Given the description of an element on the screen output the (x, y) to click on. 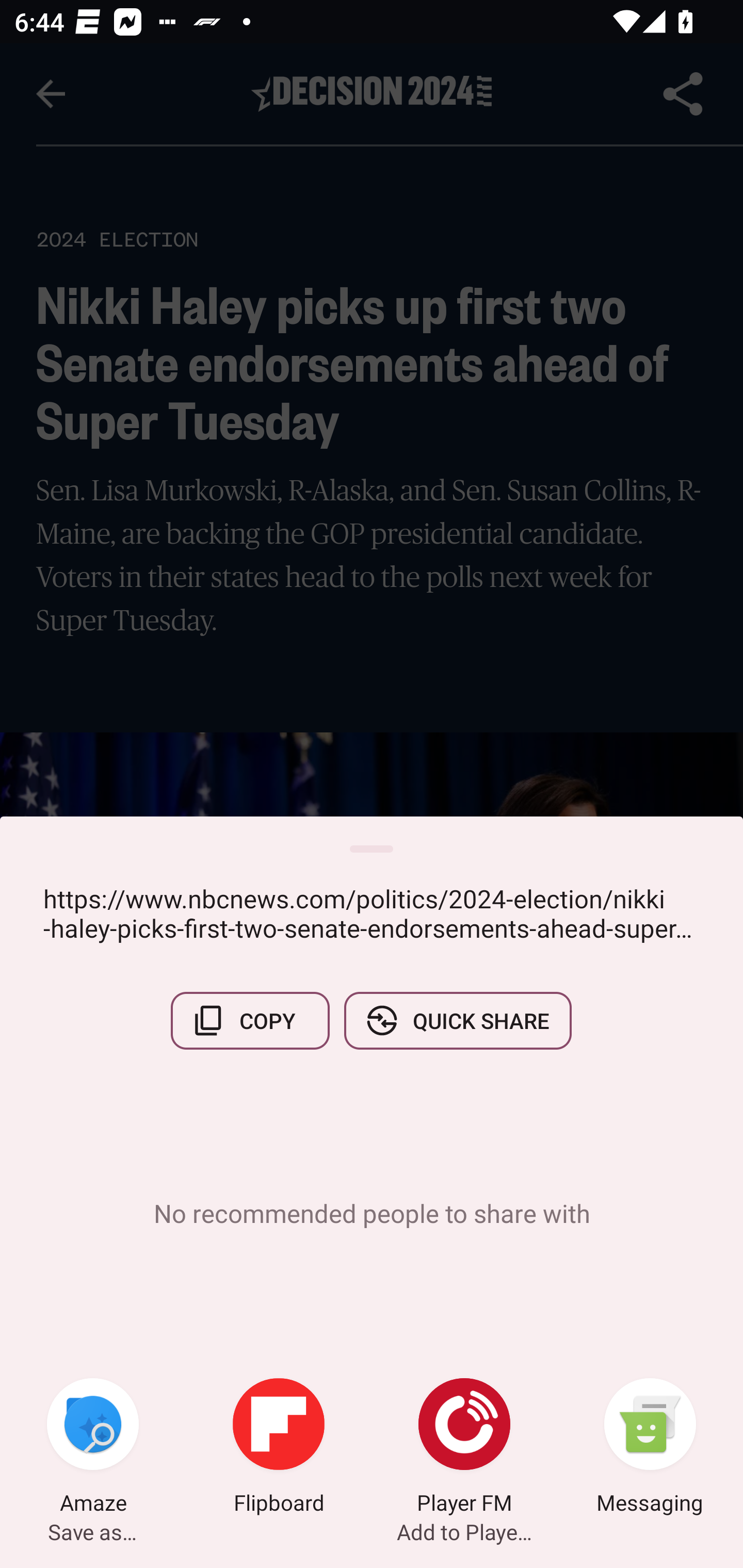
COPY (249, 1020)
QUICK SHARE (457, 1020)
Amaze Save as… (92, 1448)
Flipboard (278, 1448)
Player FM Add to Player FM (464, 1448)
Messaging (650, 1448)
